Given the description of an element on the screen output the (x, y) to click on. 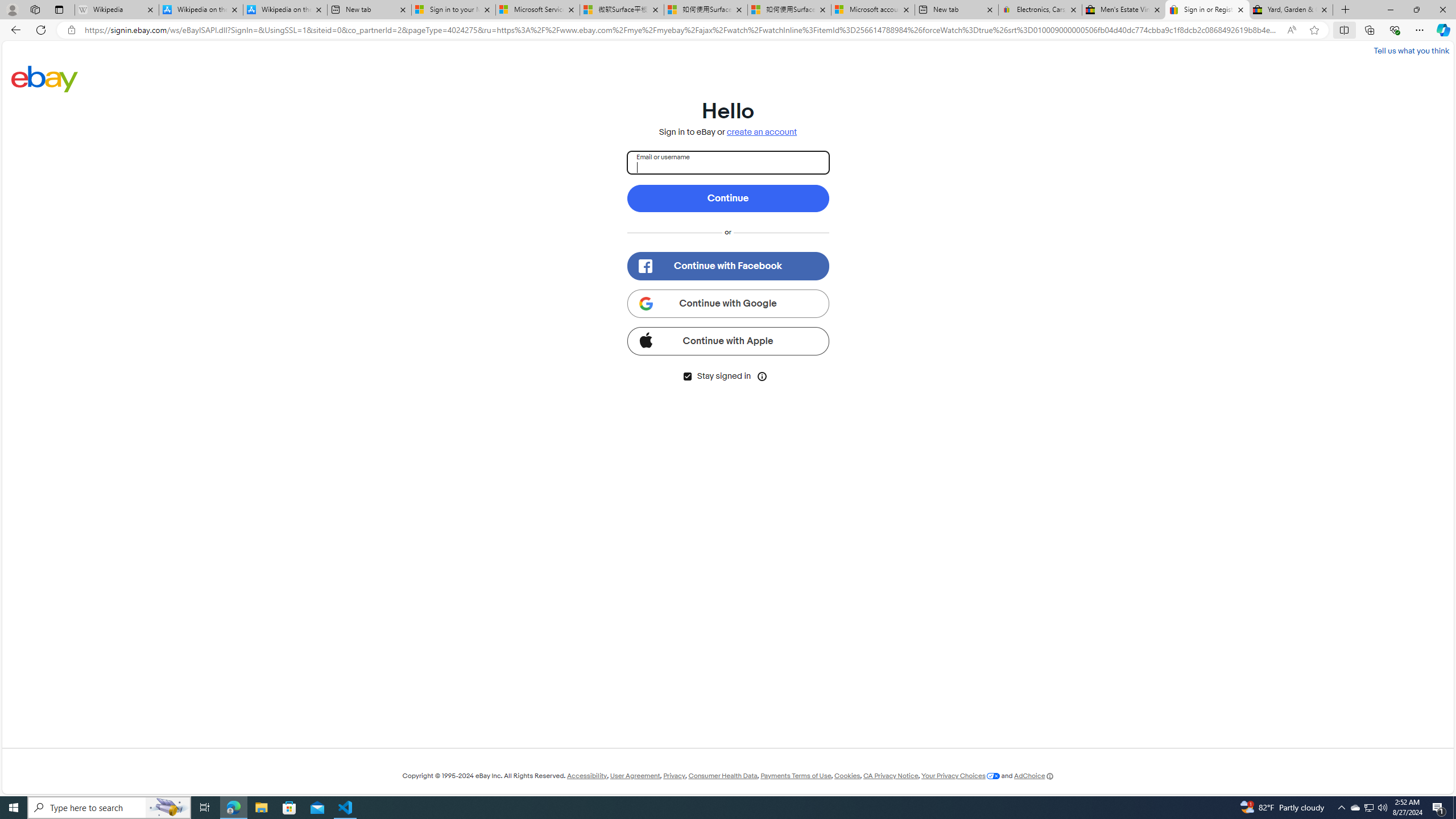
Accessibility (586, 775)
Continue with Google (727, 303)
Microsoft account | Account Checkup (873, 9)
Continue with Apple (727, 340)
Tell us what you think - Link opens in a new window (1410, 50)
Payments Terms of Use (795, 775)
Consumer Health Data (722, 775)
Privacy (673, 775)
